Given the description of an element on the screen output the (x, y) to click on. 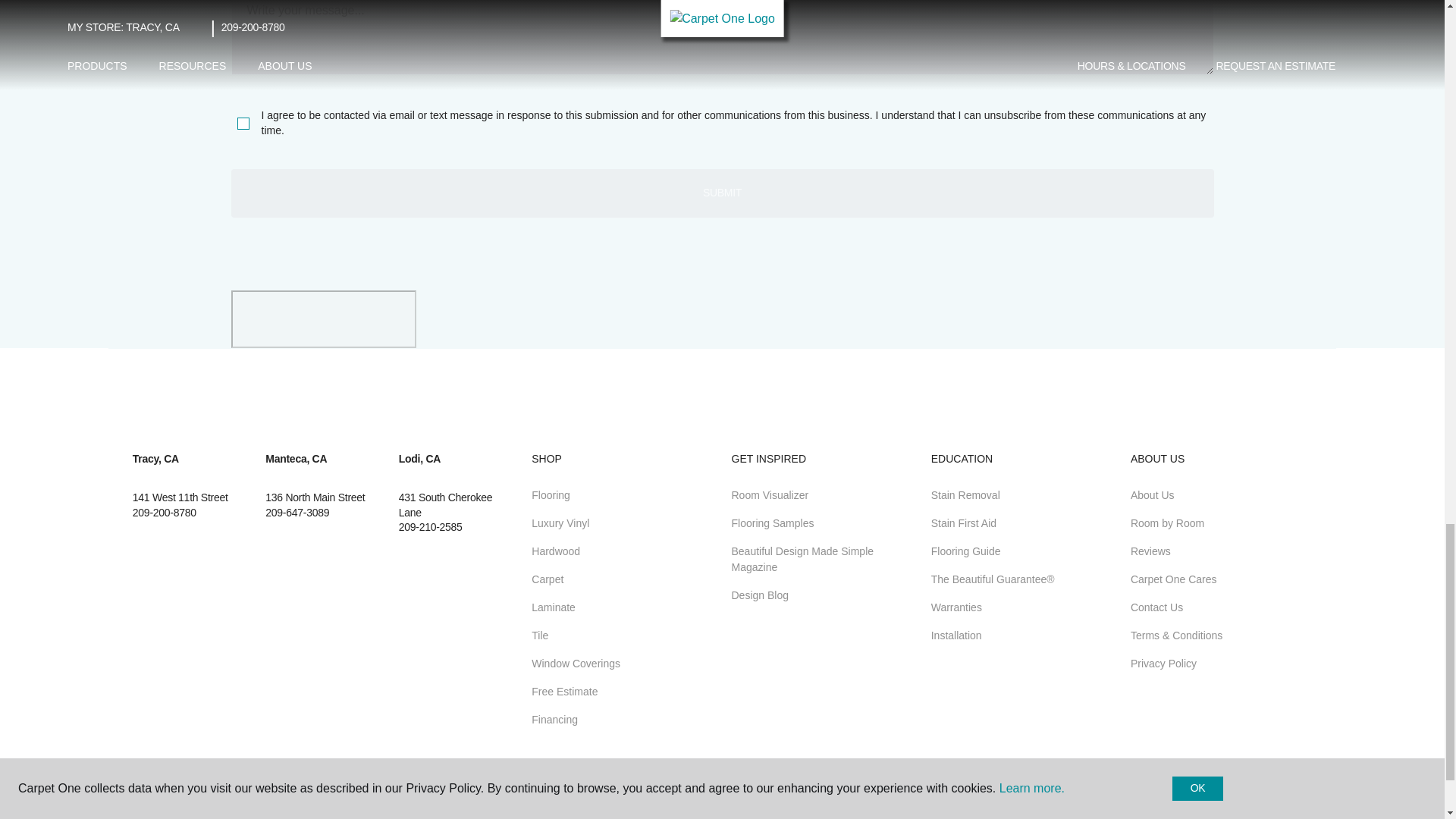
MyMessage (721, 37)
